Given the description of an element on the screen output the (x, y) to click on. 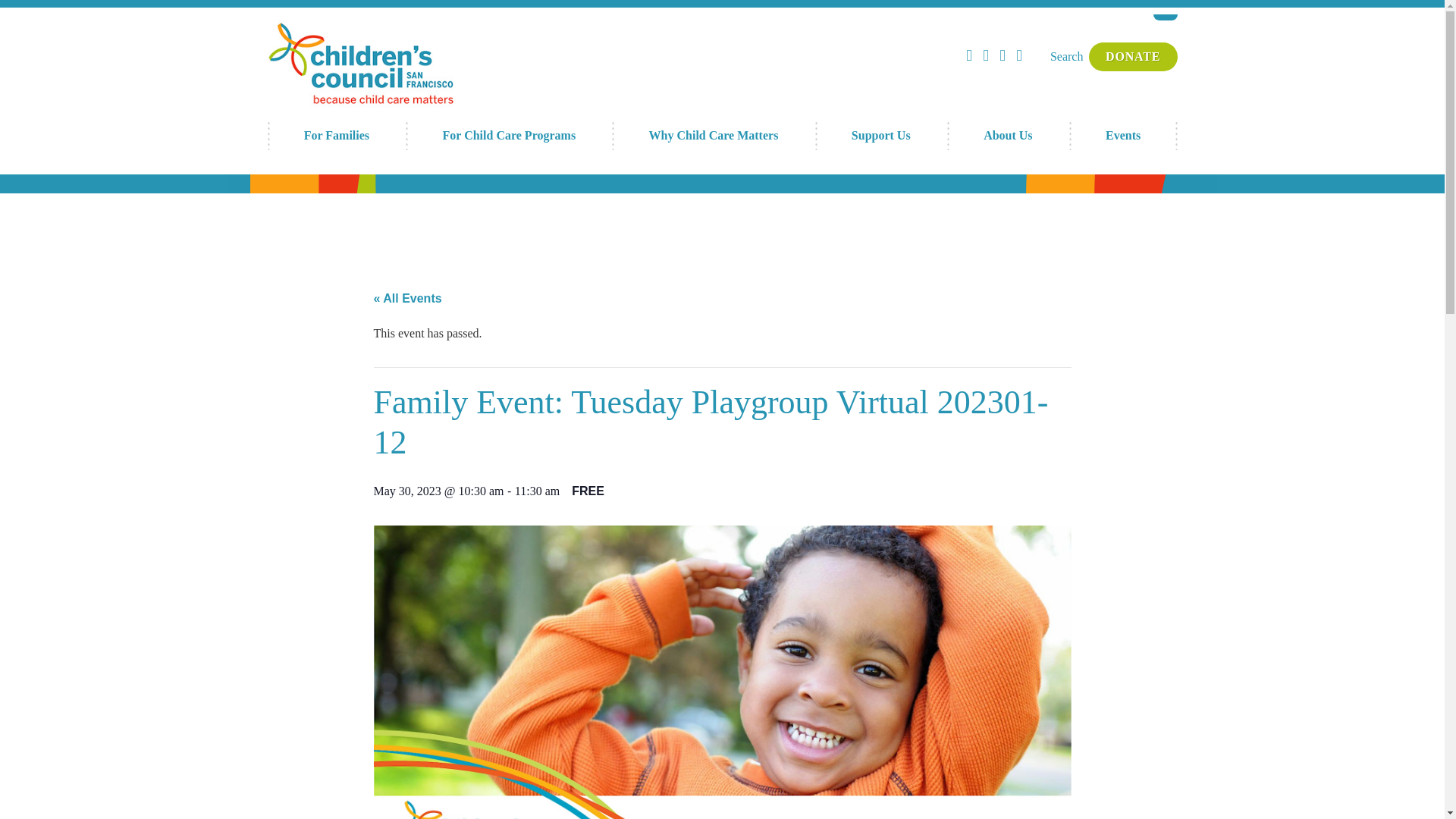
Search (1066, 56)
Instagram (985, 54)
LinkedIn (1018, 54)
Twitter (1002, 54)
For Child Care Programs (508, 135)
For Families (336, 135)
Facebook (968, 54)
DONATE (1133, 56)
